Given the description of an element on the screen output the (x, y) to click on. 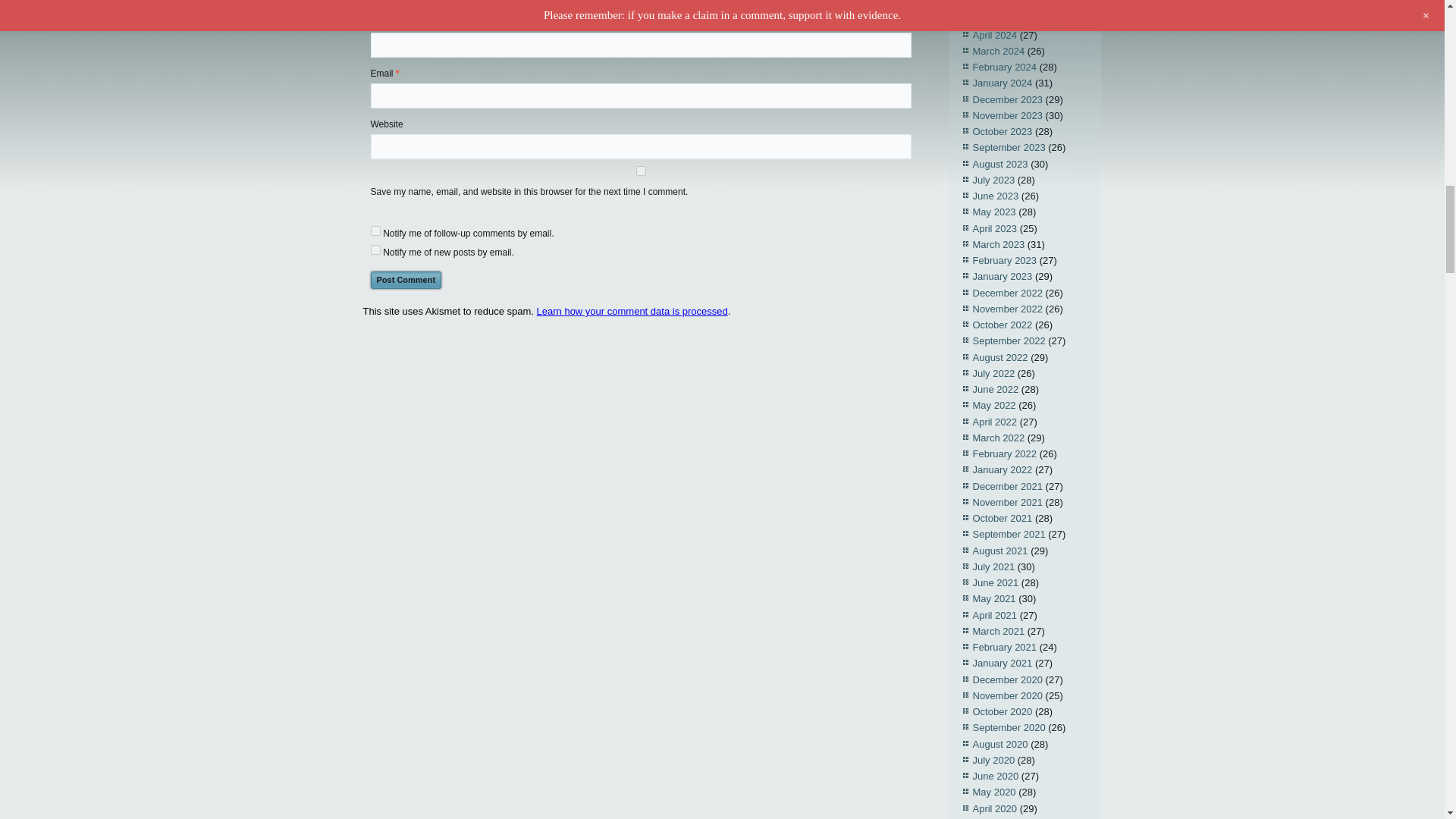
yes (640, 171)
subscribe (374, 249)
Post Comment (405, 280)
subscribe (374, 230)
